Given the description of an element on the screen output the (x, y) to click on. 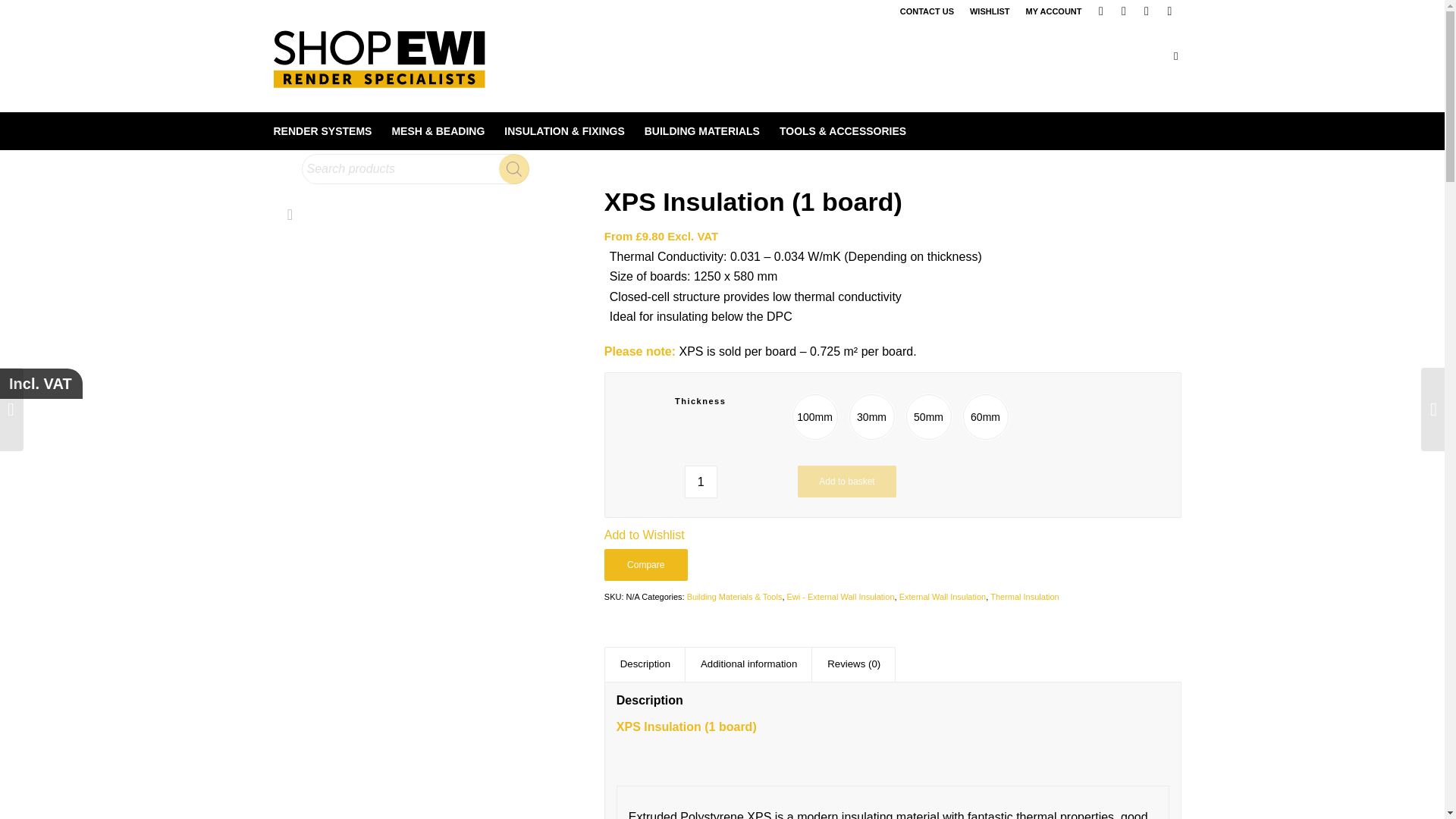
100mm (815, 416)
30mm (871, 416)
WISHLIST (989, 11)
MY ACCOUNT (1053, 11)
BUILDING MATERIALS (702, 130)
LinkedIn (1124, 11)
60mm (985, 416)
Facebook (1101, 11)
RENDER SYSTEMS (322, 130)
Twitter (1146, 11)
